Given the description of an element on the screen output the (x, y) to click on. 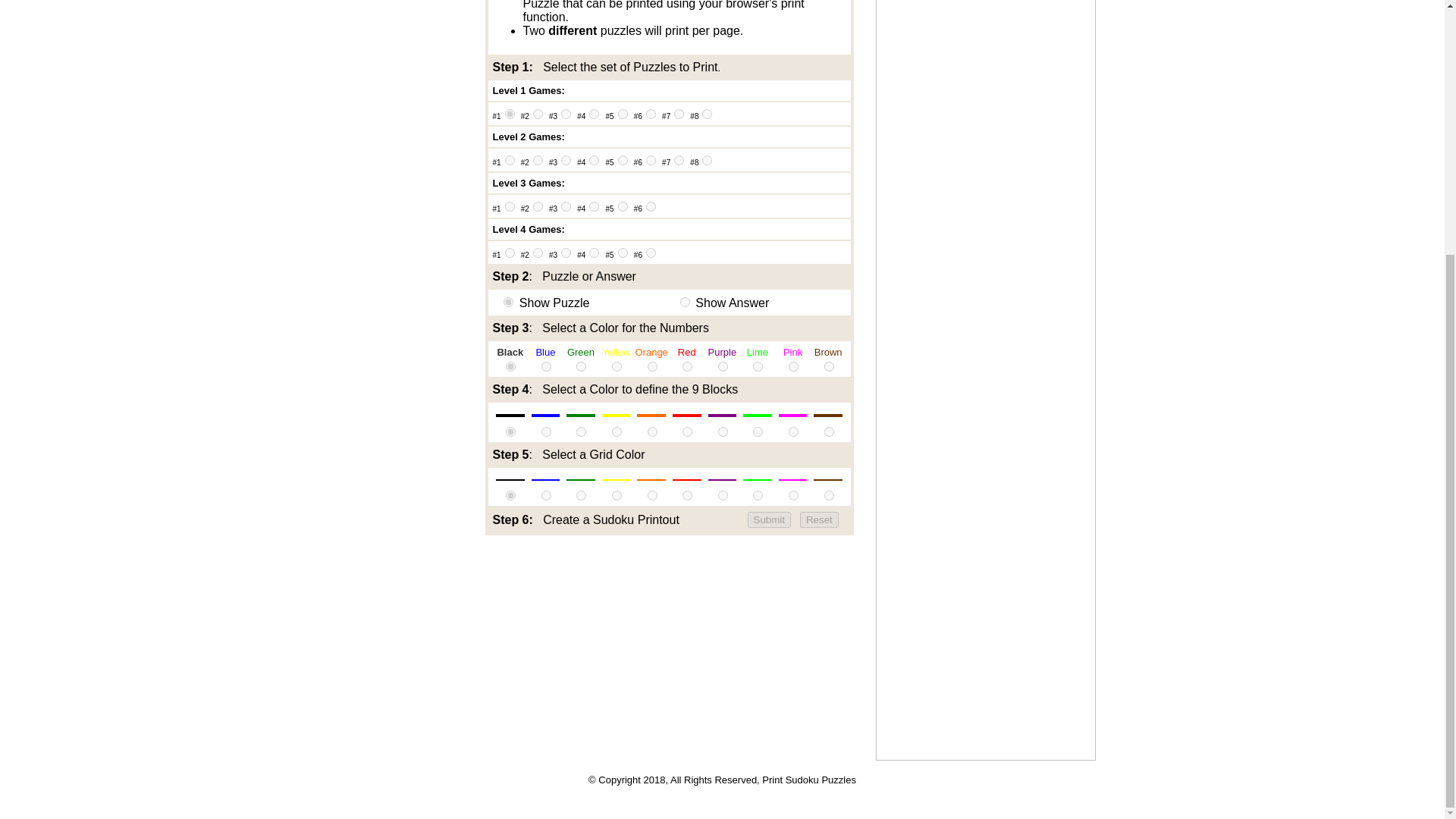
10008 (706, 113)
30002 (537, 206)
30004 (593, 206)
10007 (679, 113)
10006 (651, 113)
10002 (537, 113)
20005 (622, 160)
20008 (706, 160)
20004 (593, 160)
10001 (510, 113)
10004 (593, 113)
30001 (510, 206)
20003 (565, 160)
Submit (769, 519)
10005 (622, 113)
